Given the description of an element on the screen output the (x, y) to click on. 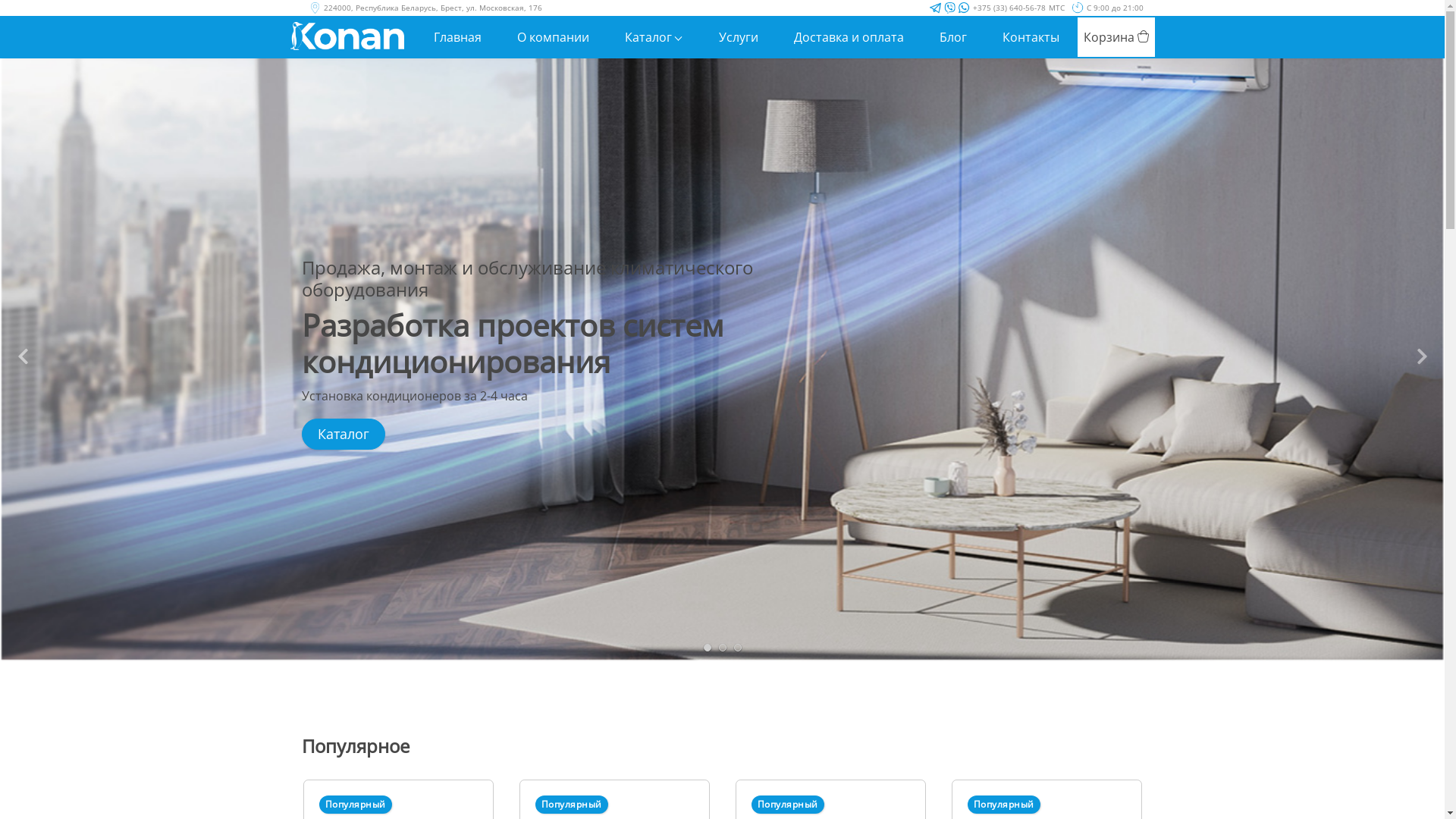
+375 (33) 640-56-78 Element type: text (1008, 7)
